Given the description of an element on the screen output the (x, y) to click on. 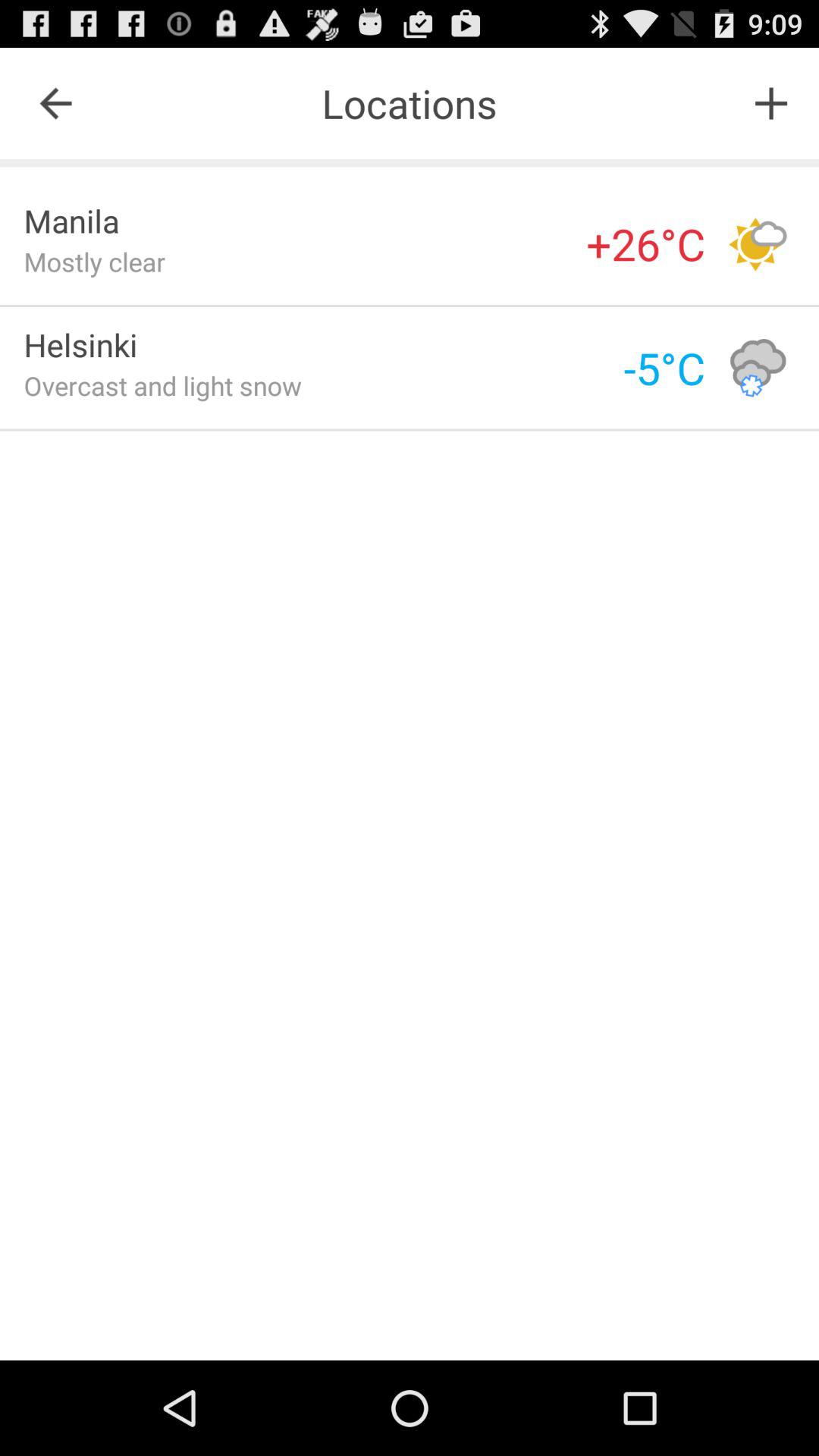
press icon to the left of the locations icon (55, 103)
